Given the description of an element on the screen output the (x, y) to click on. 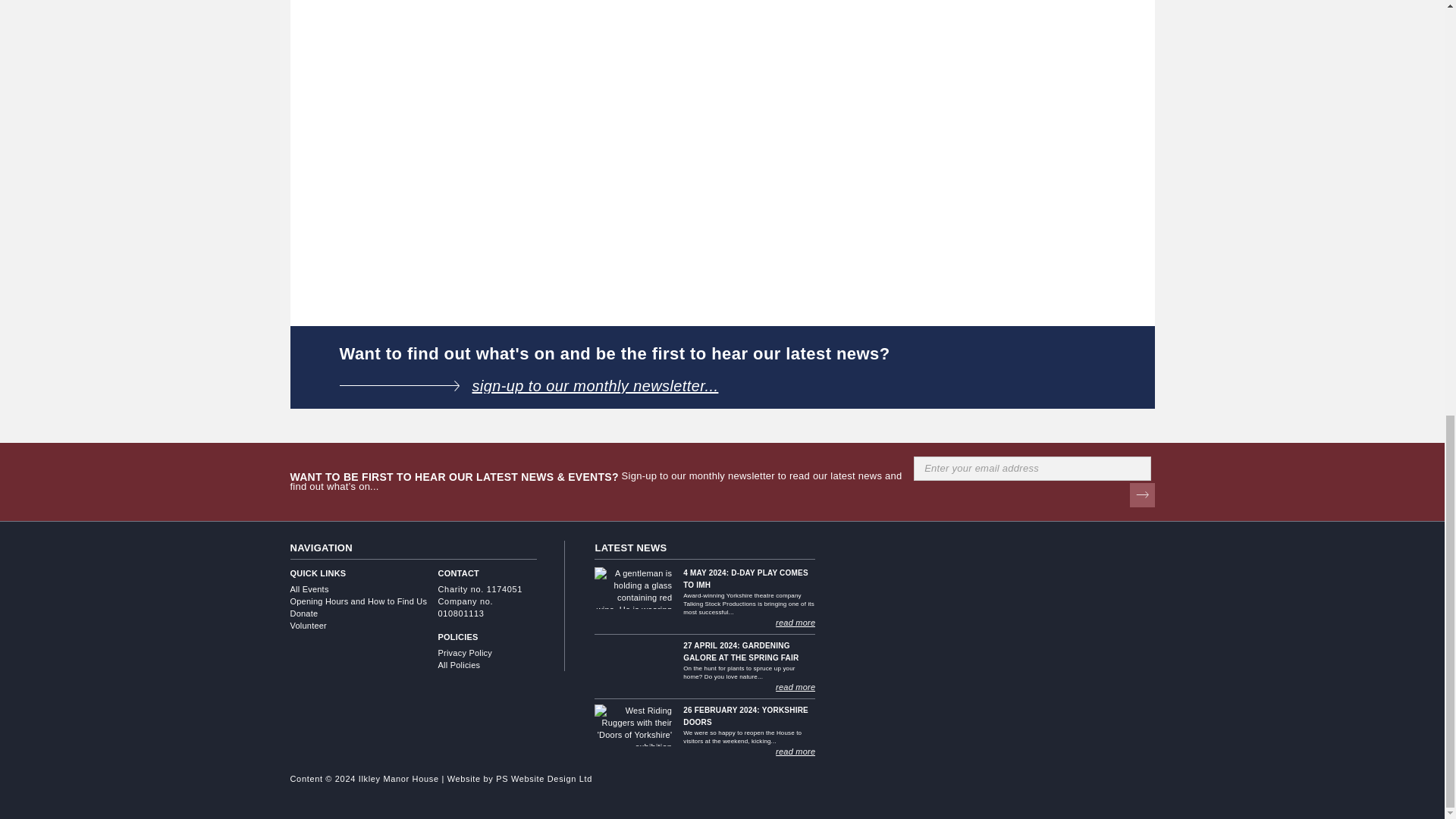
QUICK LINKS (363, 573)
Opening Hours and How to Find Us (363, 601)
All Events (363, 589)
Send (1141, 494)
Send (1141, 494)
